Given the description of an element on the screen output the (x, y) to click on. 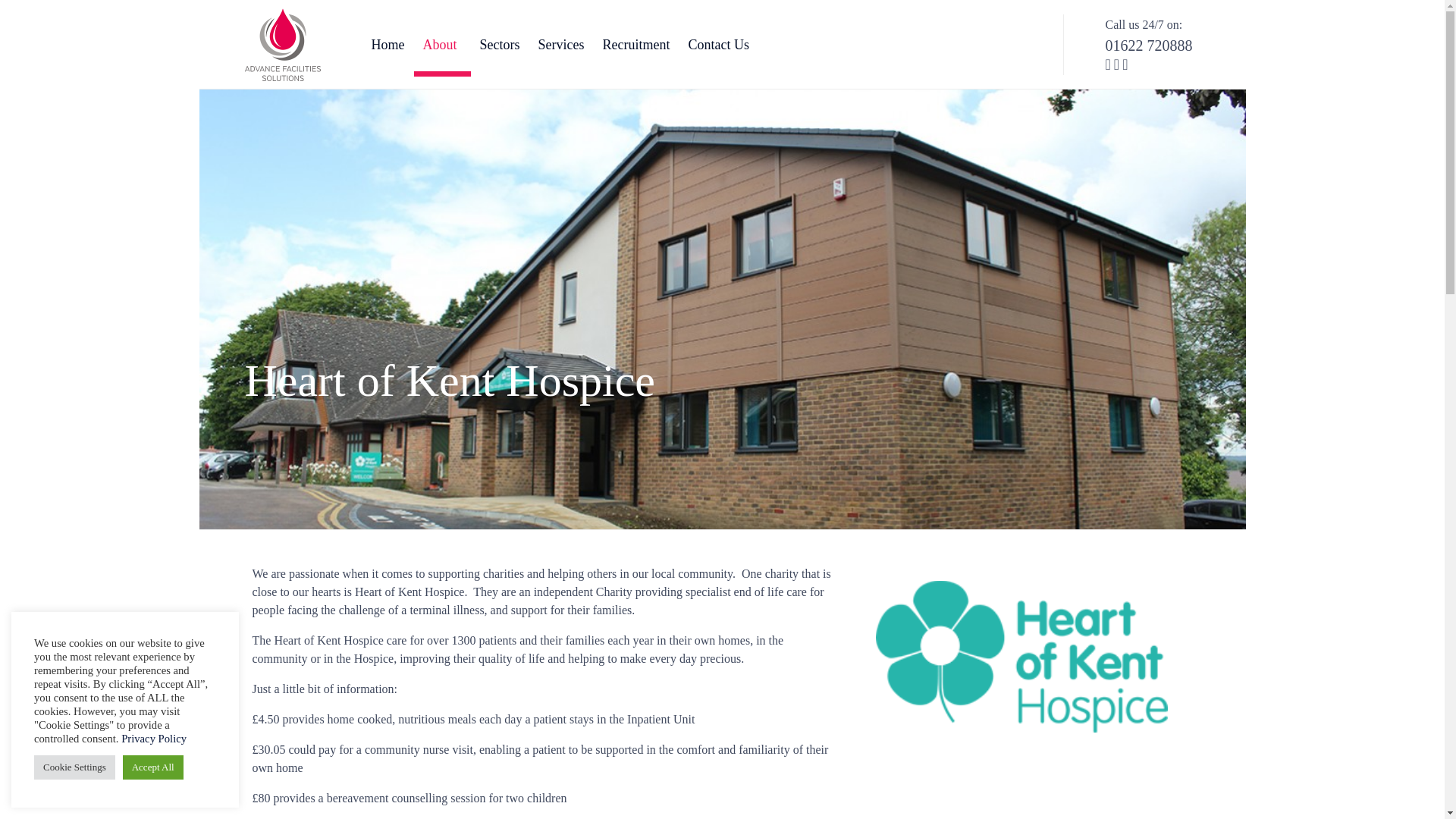
Sectors (499, 43)
Recruitment (635, 43)
Services (561, 43)
About (441, 43)
01622 720888 (1148, 45)
Contact Us (718, 43)
